Given the description of an element on the screen output the (x, y) to click on. 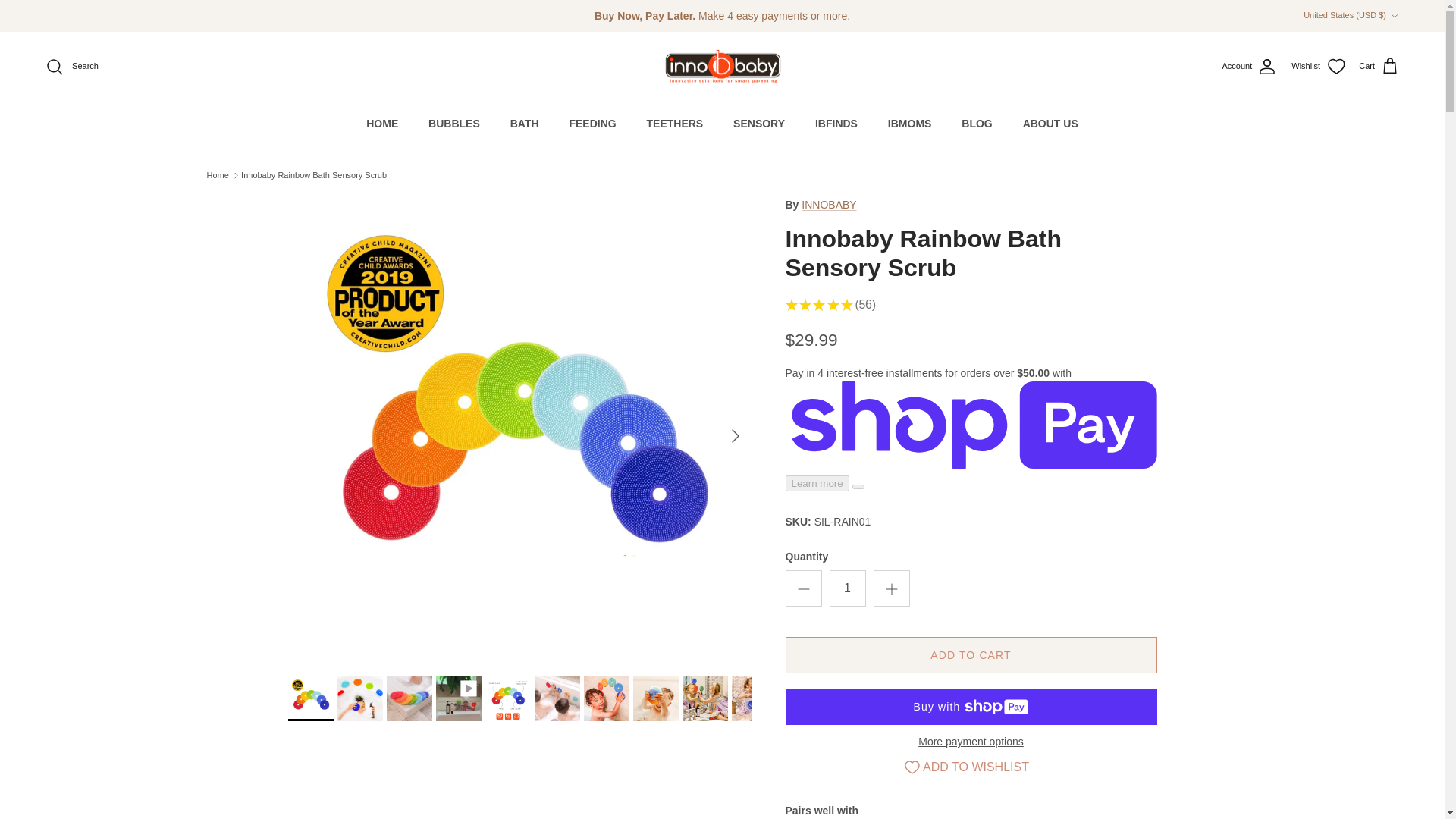
Account (1249, 66)
innobaby (722, 66)
BUBBLES (453, 123)
FEEDING (591, 123)
Wishlist (1317, 66)
BATH (524, 123)
1 (847, 588)
Cart (1378, 66)
Search (72, 66)
HOME (382, 123)
